Given the description of an element on the screen output the (x, y) to click on. 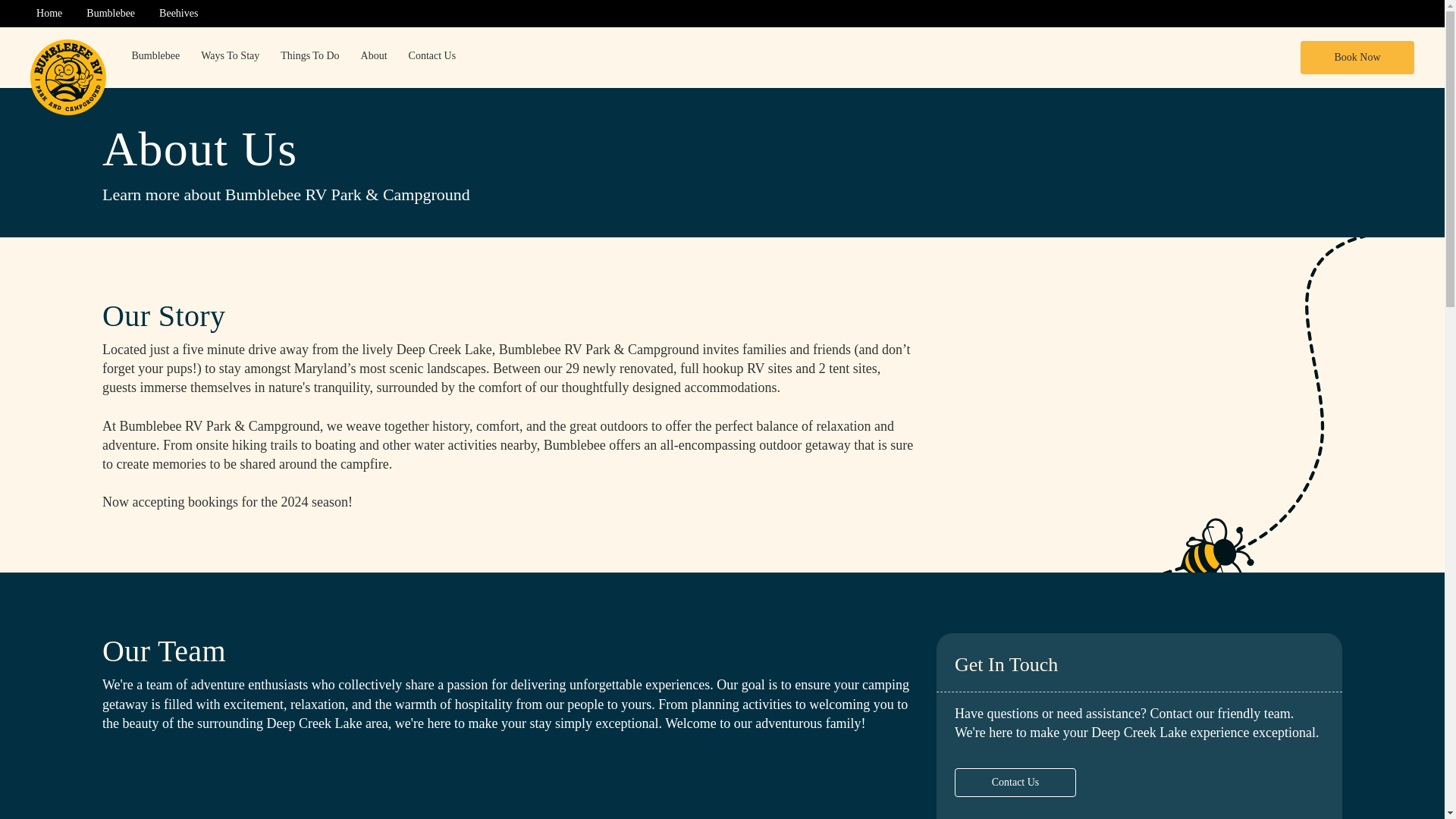
Ways To Stay (229, 57)
Things To Do (309, 57)
Bumblebee (155, 57)
Contact Us (1015, 782)
Home (49, 15)
Contact Us (432, 57)
Bumblebee (110, 15)
Book Now (1356, 57)
Beehives (177, 15)
